Given the description of an element on the screen output the (x, y) to click on. 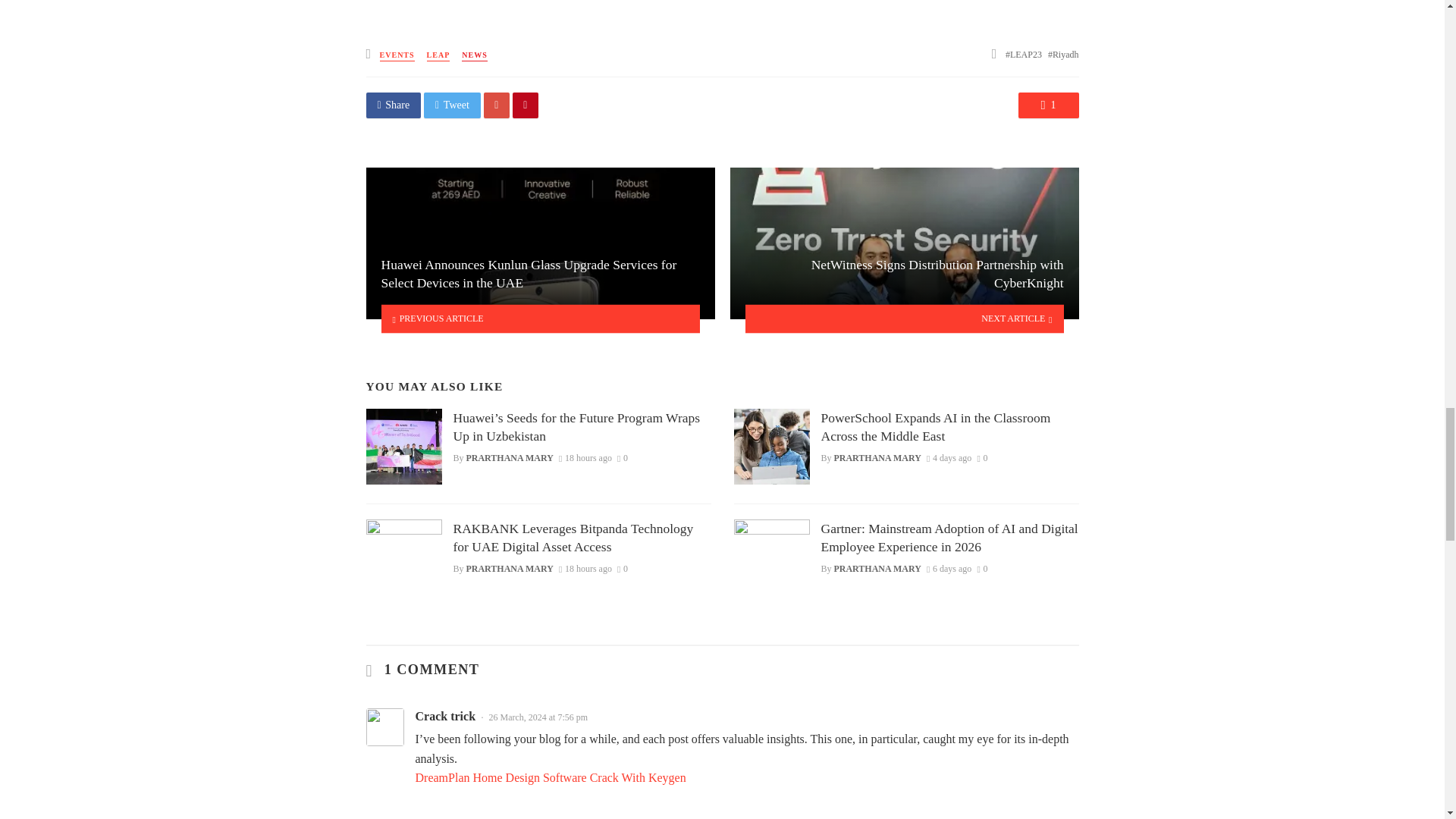
EVENTS (397, 55)
LEAP (437, 55)
LEAP23 (1024, 54)
NEWS (473, 55)
